Given the description of an element on the screen output the (x, y) to click on. 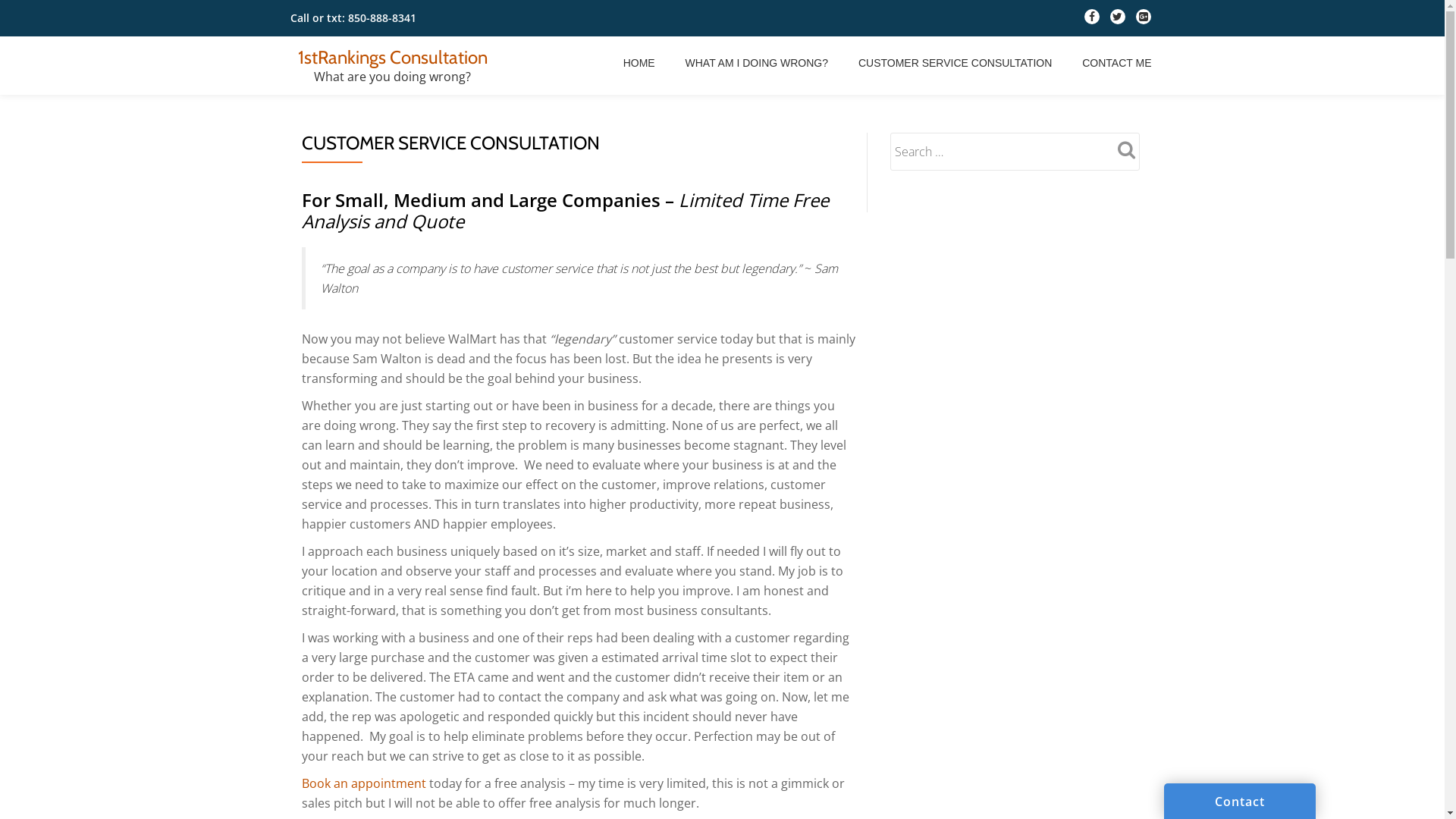
Skip to content Element type: text (0, 30)
CUSTOMER SERVICE CONSULTATION Element type: text (954, 62)
Search Element type: text (1123, 149)
Book an appointment Element type: text (363, 783)
WHAT AM I DOING WRONG? Element type: text (756, 62)
1stRankings Consultation Element type: text (391, 57)
fa-twitter Element type: text (1117, 19)
HOME Element type: text (639, 62)
fa-facebook Element type: text (1091, 19)
fa-google-plus-square Element type: text (1143, 19)
CONTACT ME Element type: text (1116, 62)
